Given the description of an element on the screen output the (x, y) to click on. 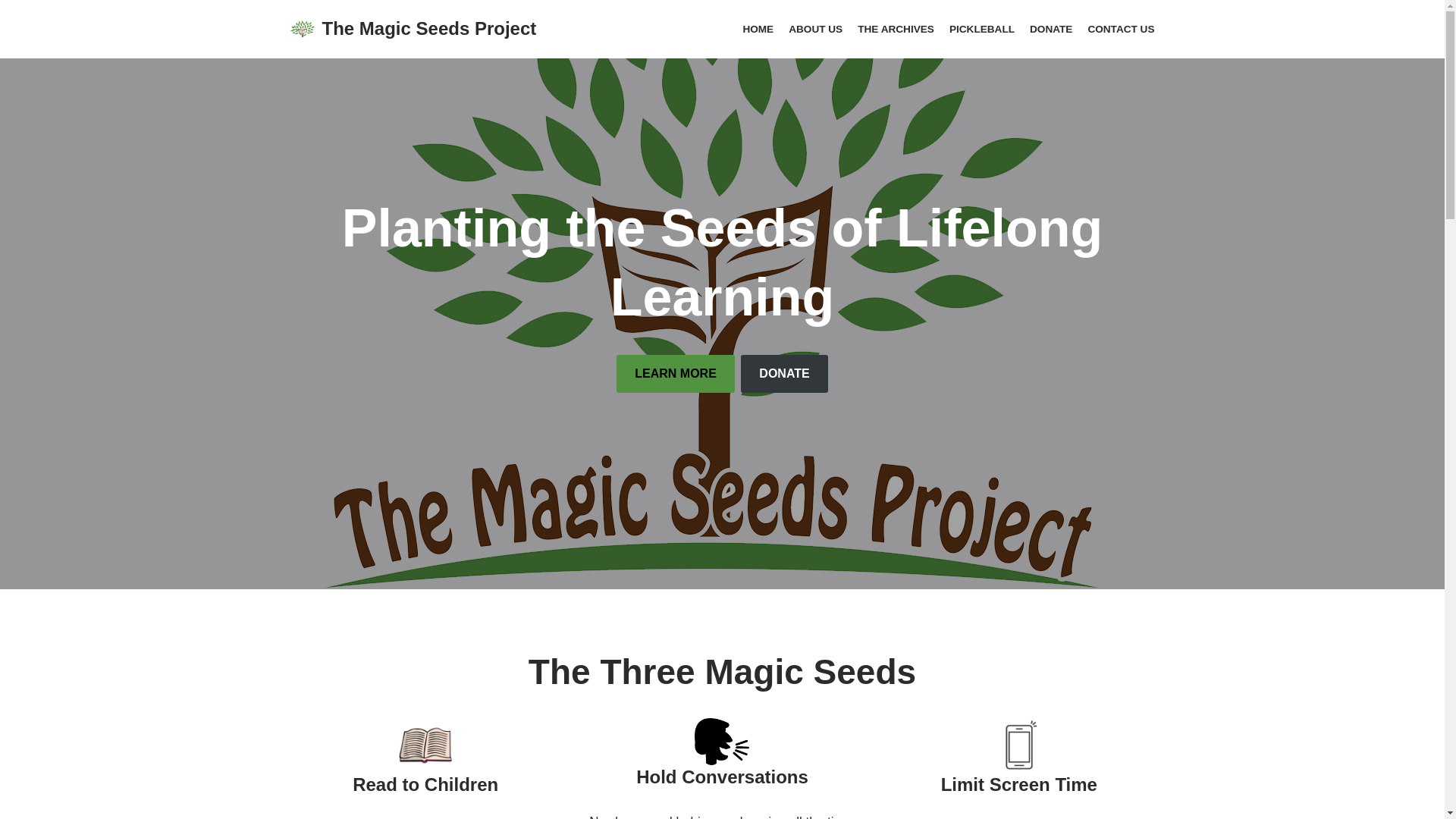
ABOUT US (816, 28)
The Magic Seeds Project (412, 29)
THE ARCHIVES (895, 28)
DONATE (1050, 28)
DONATE (784, 373)
CONTACT US (1120, 28)
Skip to content (11, 31)
PICKLEBALL (981, 28)
LEARN MORE (675, 373)
HOME (757, 28)
The Magic Seeds Project (412, 29)
